Given the description of an element on the screen output the (x, y) to click on. 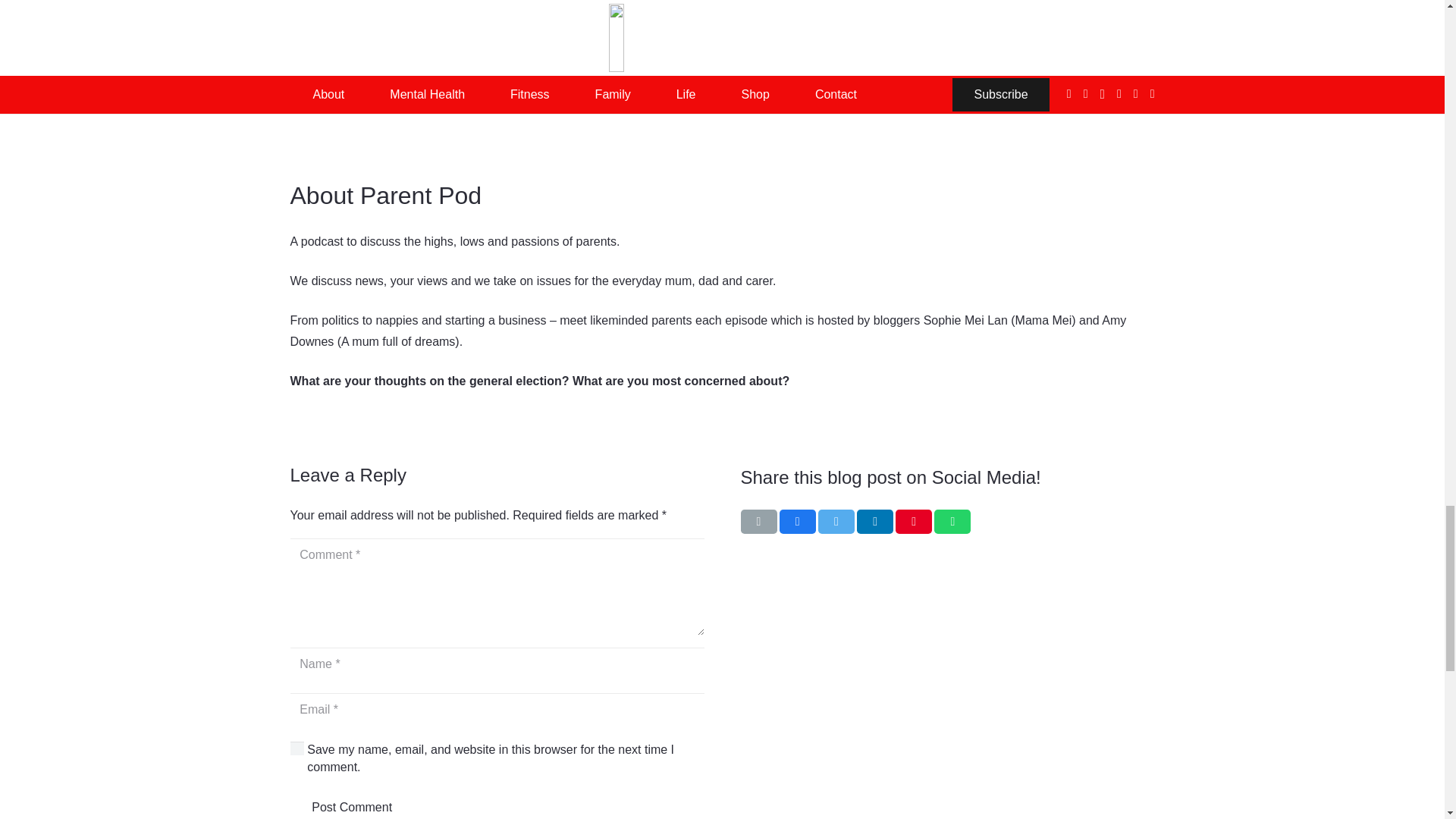
Share this (796, 521)
Pin this (913, 521)
1 (296, 748)
Share this (952, 521)
Email this (757, 521)
Post Comment (351, 804)
Share this (875, 521)
Tweet this (836, 521)
